Given the description of an element on the screen output the (x, y) to click on. 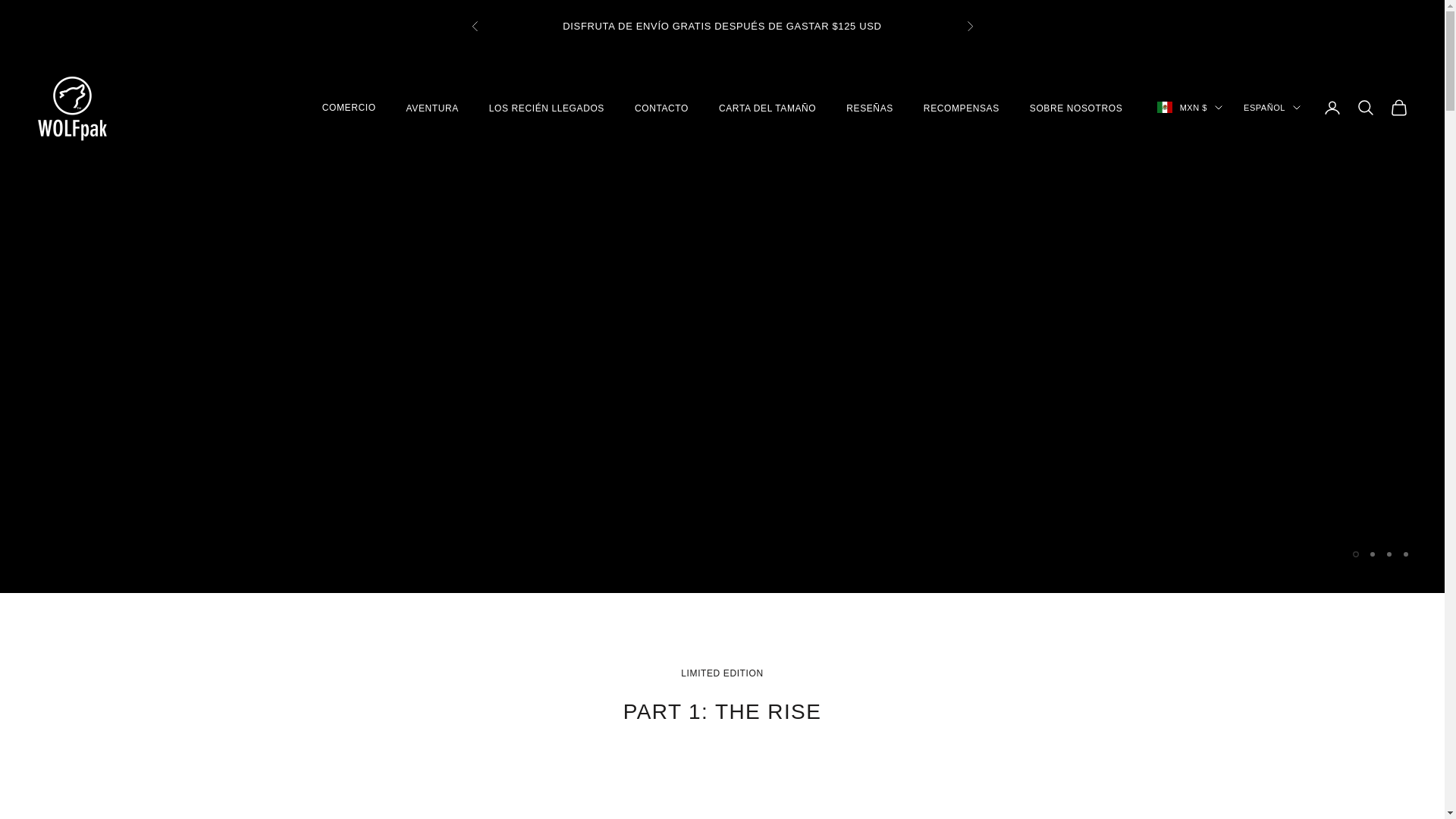
WOLFpak (71, 108)
